Given the description of an element on the screen output the (x, y) to click on. 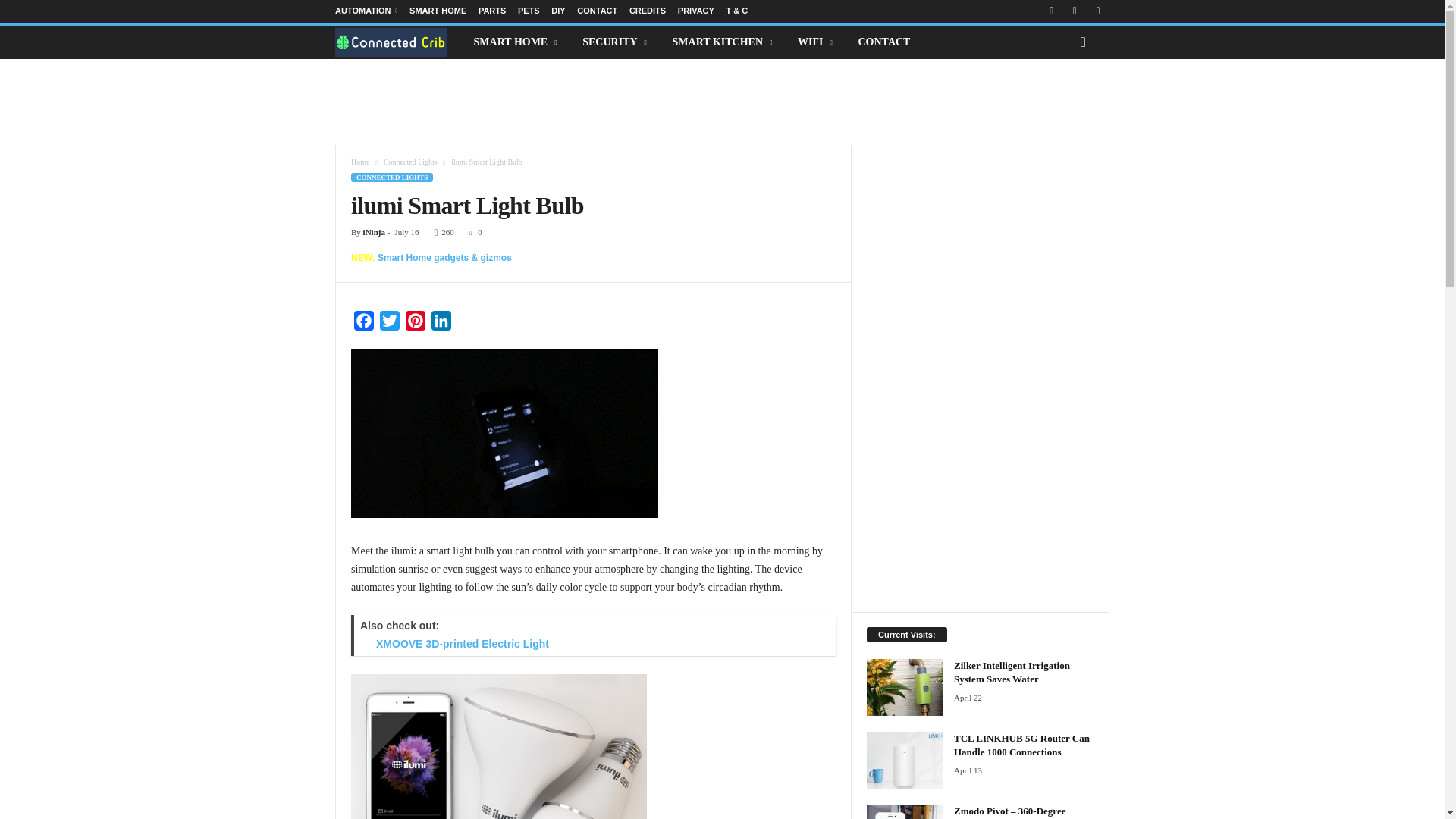
PETS (529, 10)
SMART HOME (437, 10)
AUTOMATION (365, 10)
PARTS (492, 10)
Connected Crib (398, 41)
CONTACT (596, 10)
CREDITS (646, 10)
PRIVACY (696, 10)
DIY (557, 10)
SMART HOME (517, 41)
